Given the description of an element on the screen output the (x, y) to click on. 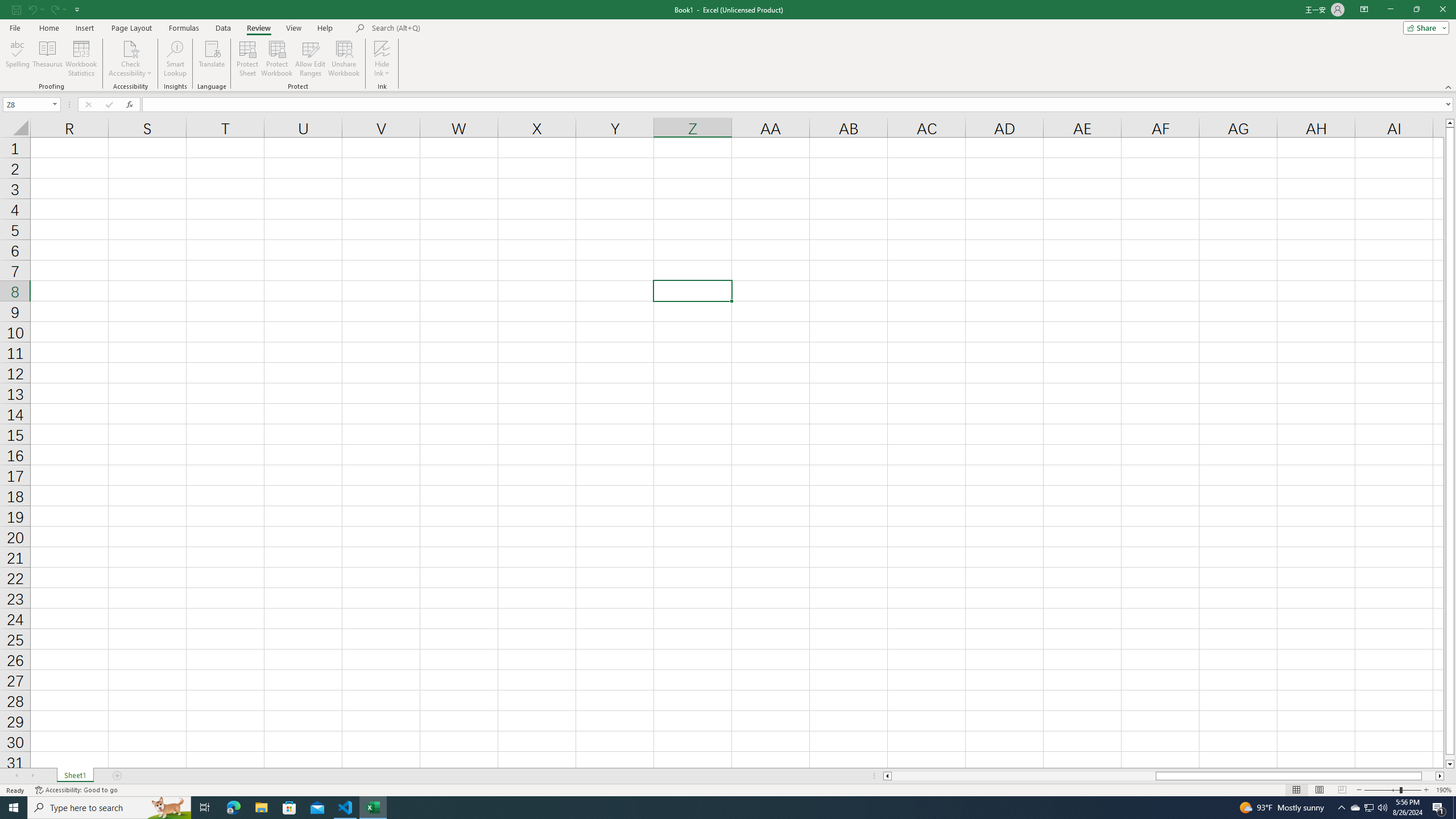
Column right (1440, 775)
Page left (1023, 775)
Collapse the Ribbon (1448, 86)
Accessibility Checker Accessibility: Good to go (76, 790)
Zoom (1392, 790)
Column left (886, 775)
More Options (381, 68)
Customize Quick Access Toolbar (77, 9)
Unshare Workbook (344, 58)
Minimize (1390, 9)
Open (54, 104)
Scroll Left (16, 775)
Class: NetUIScrollBar (1163, 775)
